Given the description of an element on the screen output the (x, y) to click on. 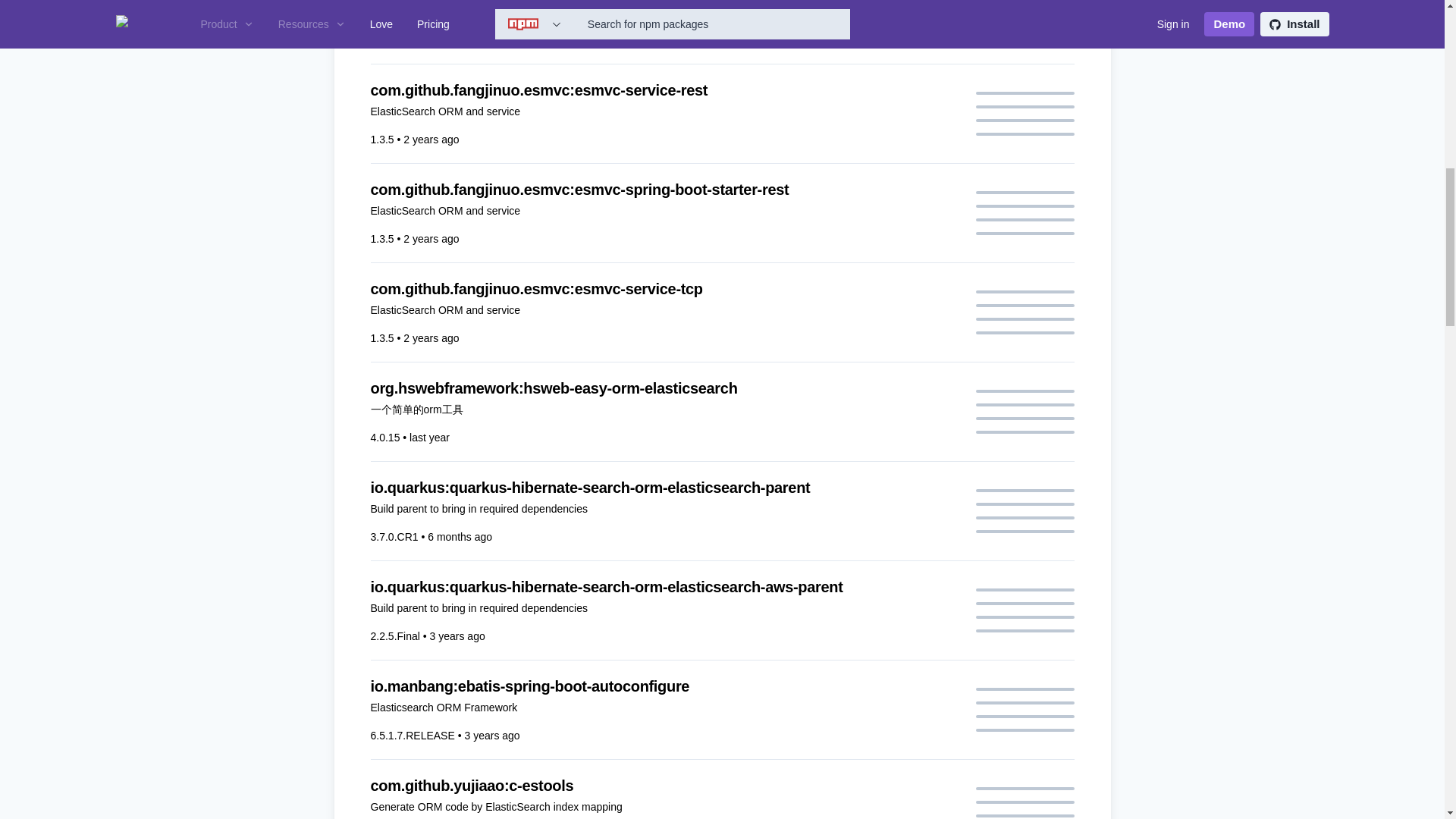
com.github.fangjinuo.esmvc:esmvc-service-tcp (662, 288)
com.github.fangjinuo.esmvc:esmvc-spring-boot-starter-rest (662, 189)
org.hswebframework:hsweb-easy-orm-elasticsearch (662, 387)
com.github.fangjinuo.esmvc:esmvc-service-rest (662, 89)
io.quarkus:quarkus-hibernate-search-orm-elasticsearch-parent (662, 486)
